Given the description of an element on the screen output the (x, y) to click on. 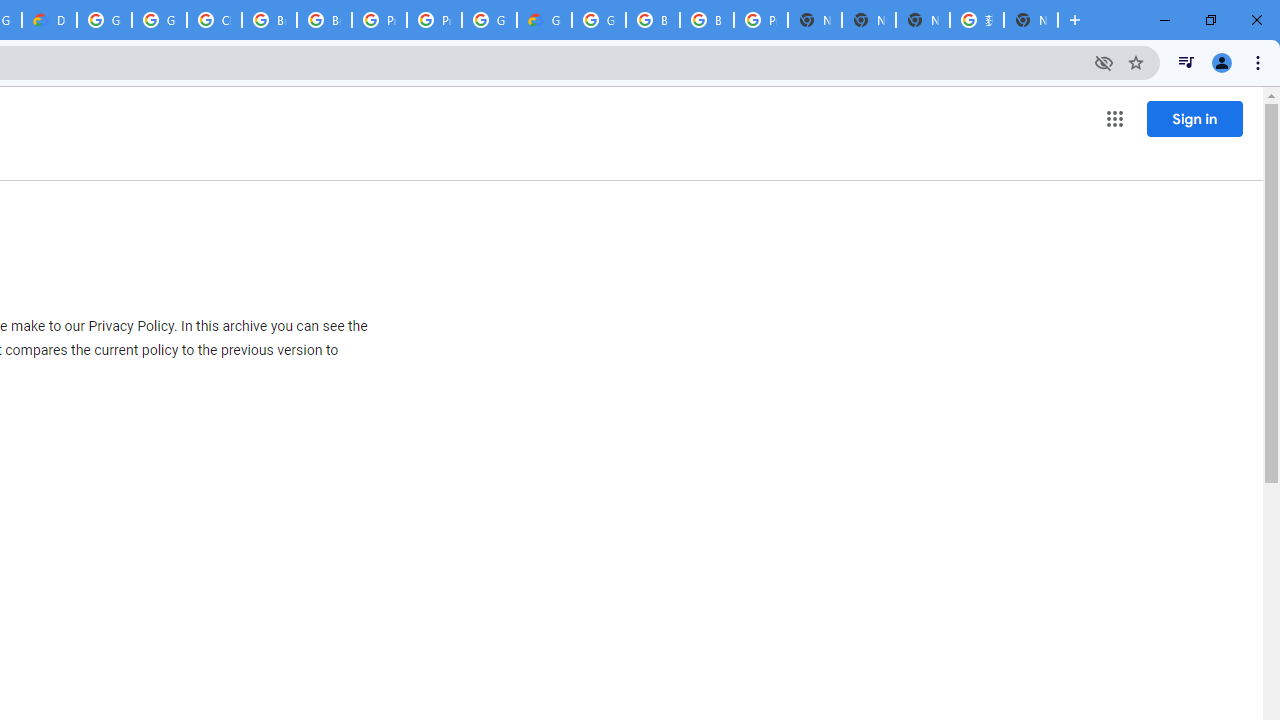
New Tab (1030, 20)
Browse Chrome as a guest - Computer - Google Chrome Help (652, 20)
Google Cloud Platform (598, 20)
New Tab (815, 20)
Google Cloud Estimate Summary (544, 20)
